Given the description of an element on the screen output the (x, y) to click on. 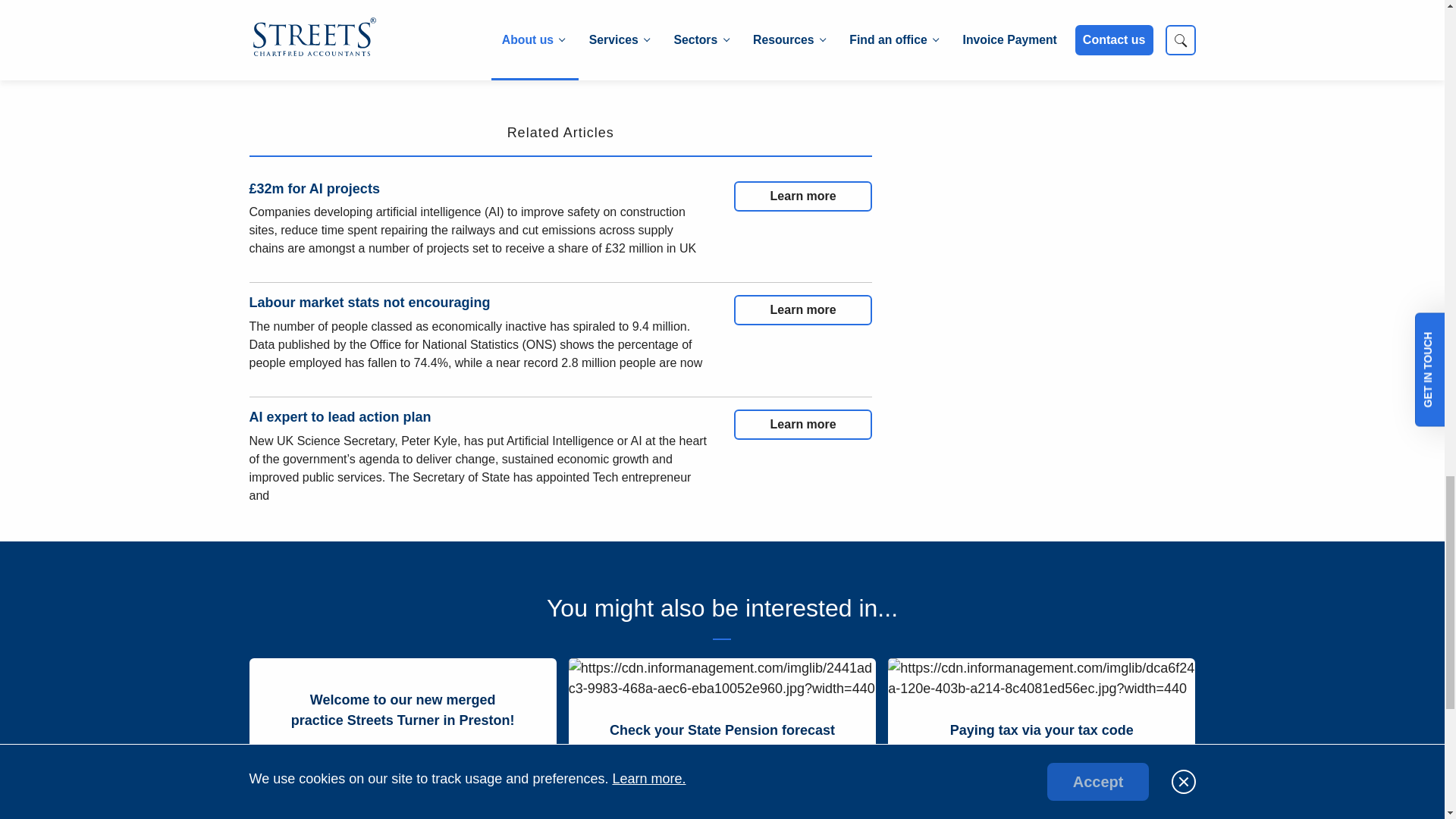
Read AI expert to lead action plan (801, 424)
Read Paying tax via your tax code (1042, 730)
Read Labour market stats not encouraging (801, 309)
Read Check your State Pension forecast (722, 730)
